Given the description of an element on the screen output the (x, y) to click on. 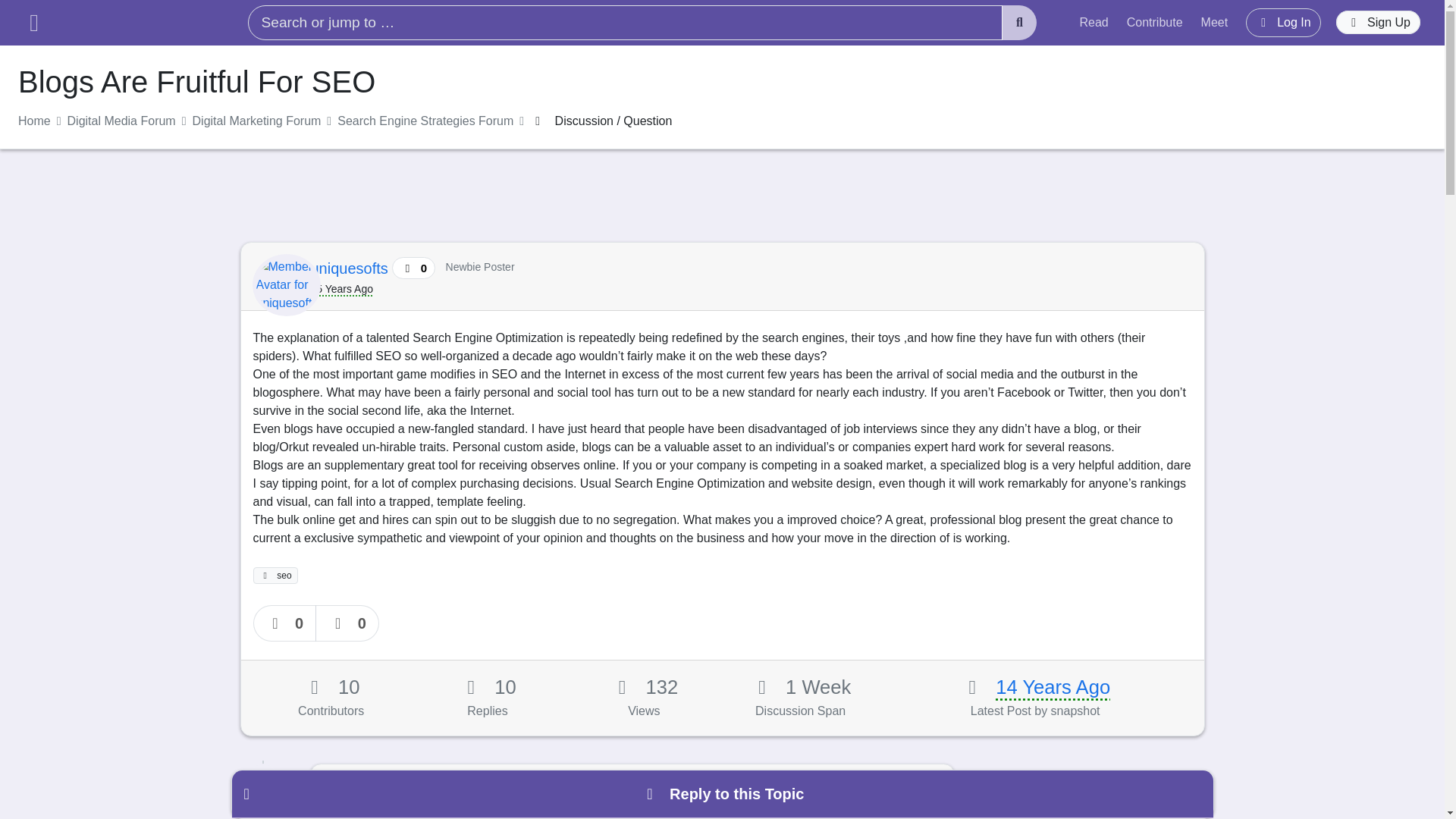
DaniWeb (135, 22)
0 (285, 623)
Contribute (1155, 22)
Read (1093, 22)
akki.webmaster (377, 789)
Digital Marketing Forum (256, 120)
Search Engine Strategies Forum (425, 120)
Toggle Menu (33, 22)
Digital Media Forum (121, 120)
Home (33, 120)
